Given the description of an element on the screen output the (x, y) to click on. 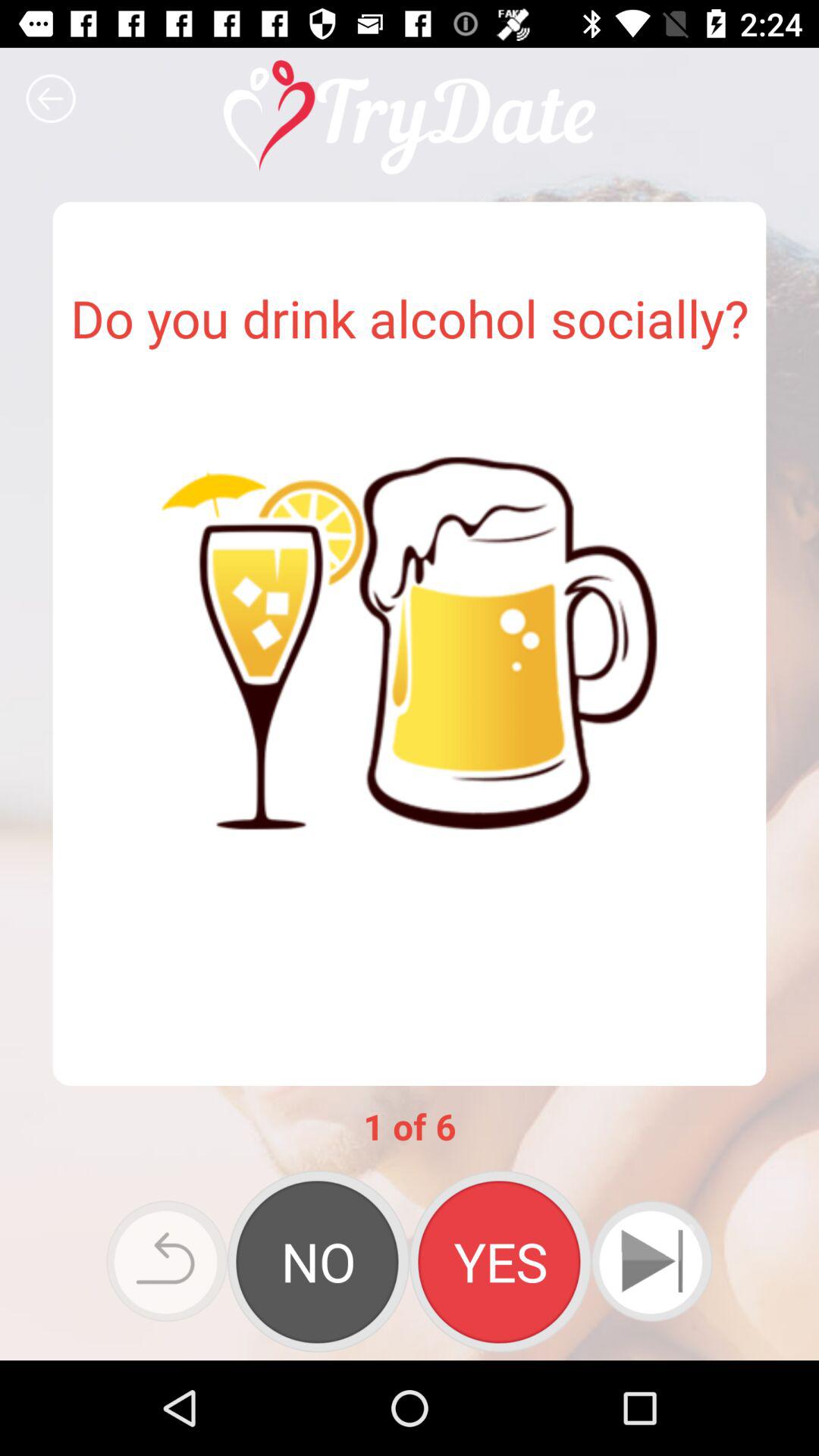
answer yes (500, 1261)
